Given the description of an element on the screen output the (x, y) to click on. 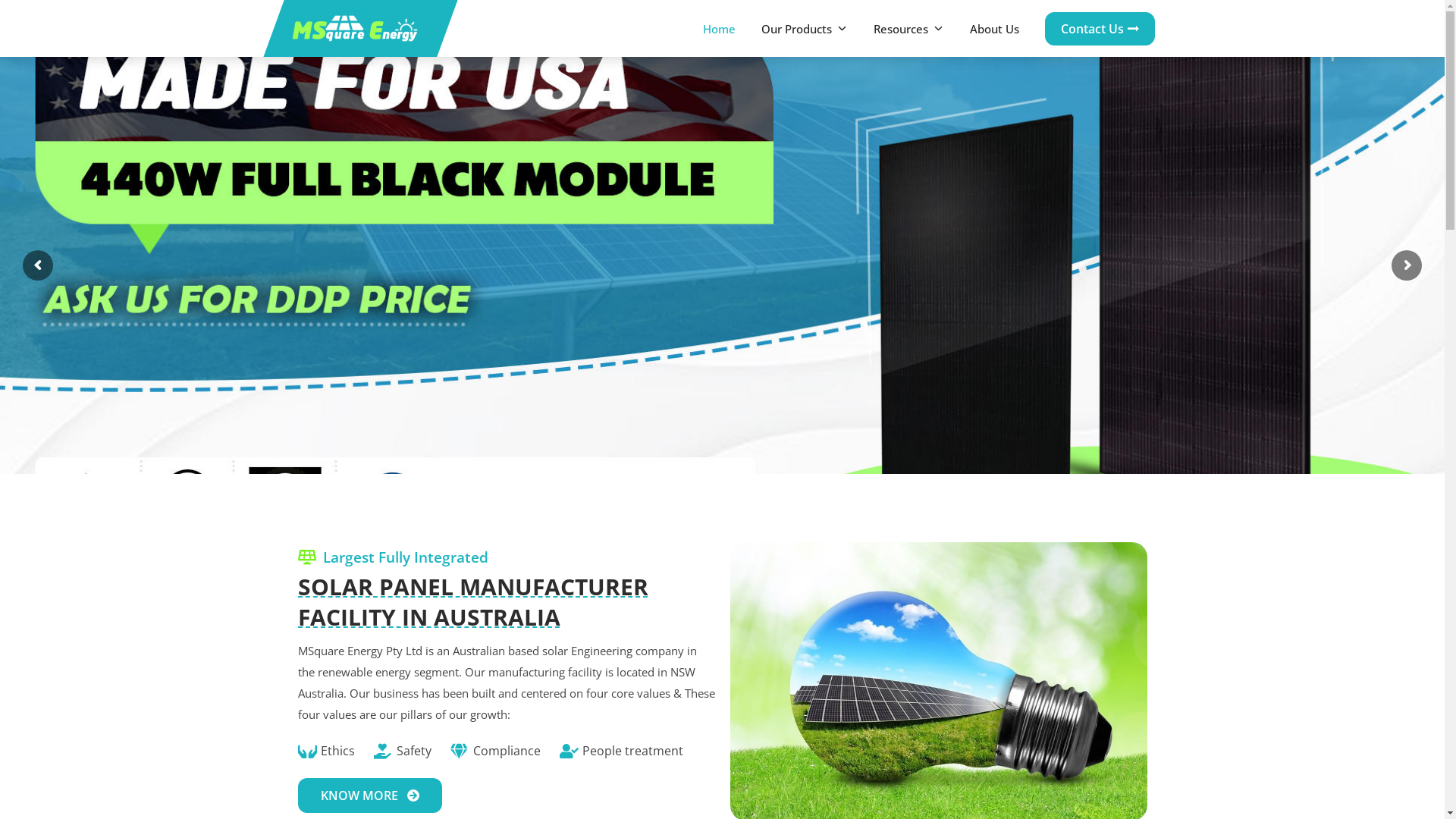
Our Products Element type: text (811, 28)
Contact Us Element type: text (1099, 28)
Home Element type: text (725, 28)
KNOW MORE Element type: text (369, 795)
About Us Element type: text (1001, 28)
Resources Element type: text (916, 28)
